Given the description of an element on the screen output the (x, y) to click on. 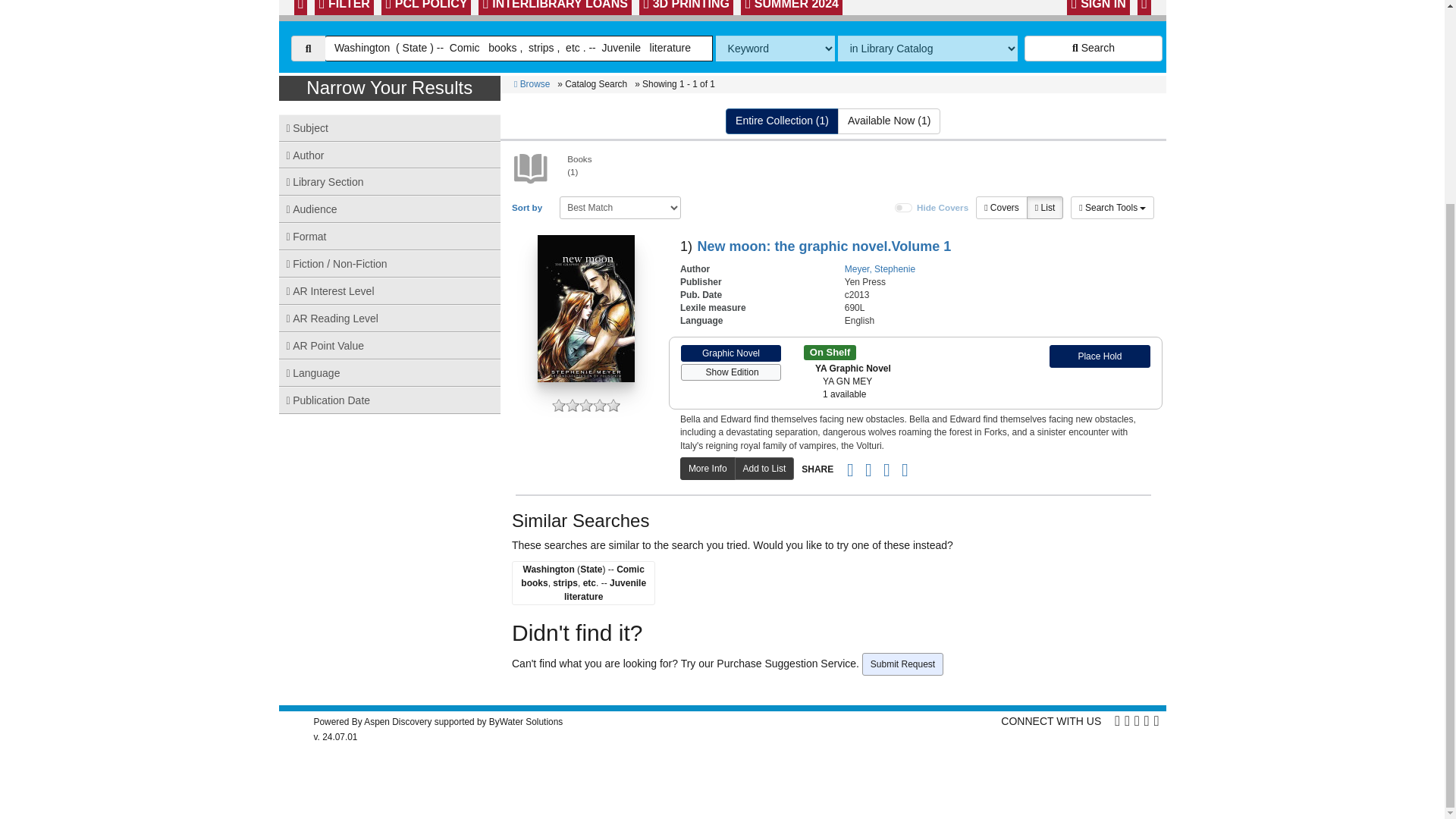
SUMMER 2024 (792, 7)
 Search (1093, 48)
on (903, 207)
Show Menu (1144, 7)
Login (1098, 7)
PCL POLICY (426, 7)
3D PRINTING (686, 7)
The method of searching. (775, 48)
SIGN IN (1098, 7)
FILTER (344, 7)
INTERLIBRARY LOANS (554, 7)
Browse the Catalog (300, 7)
